Given the description of an element on the screen output the (x, y) to click on. 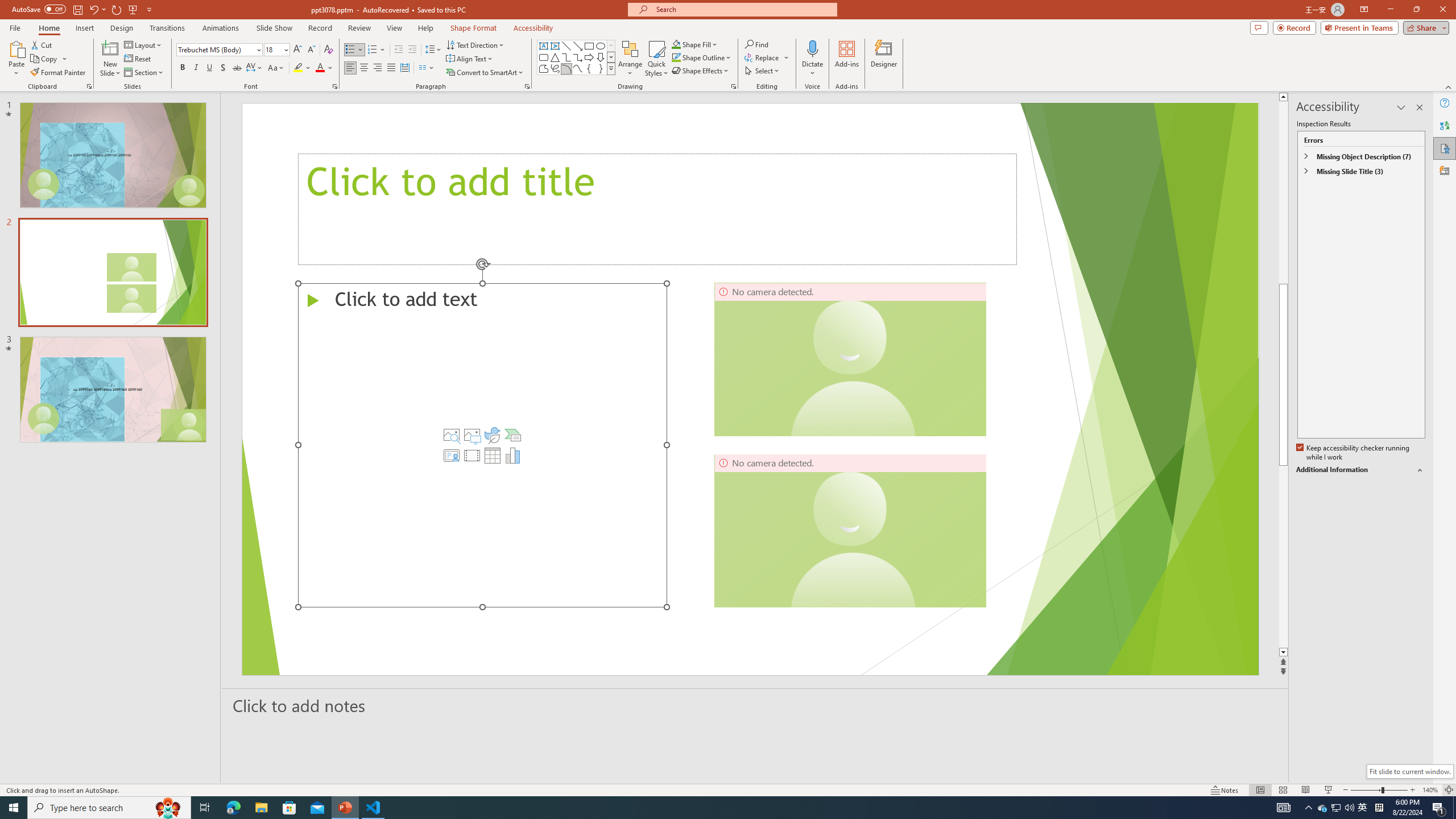
Stock Images (451, 434)
